Given the description of an element on the screen output the (x, y) to click on. 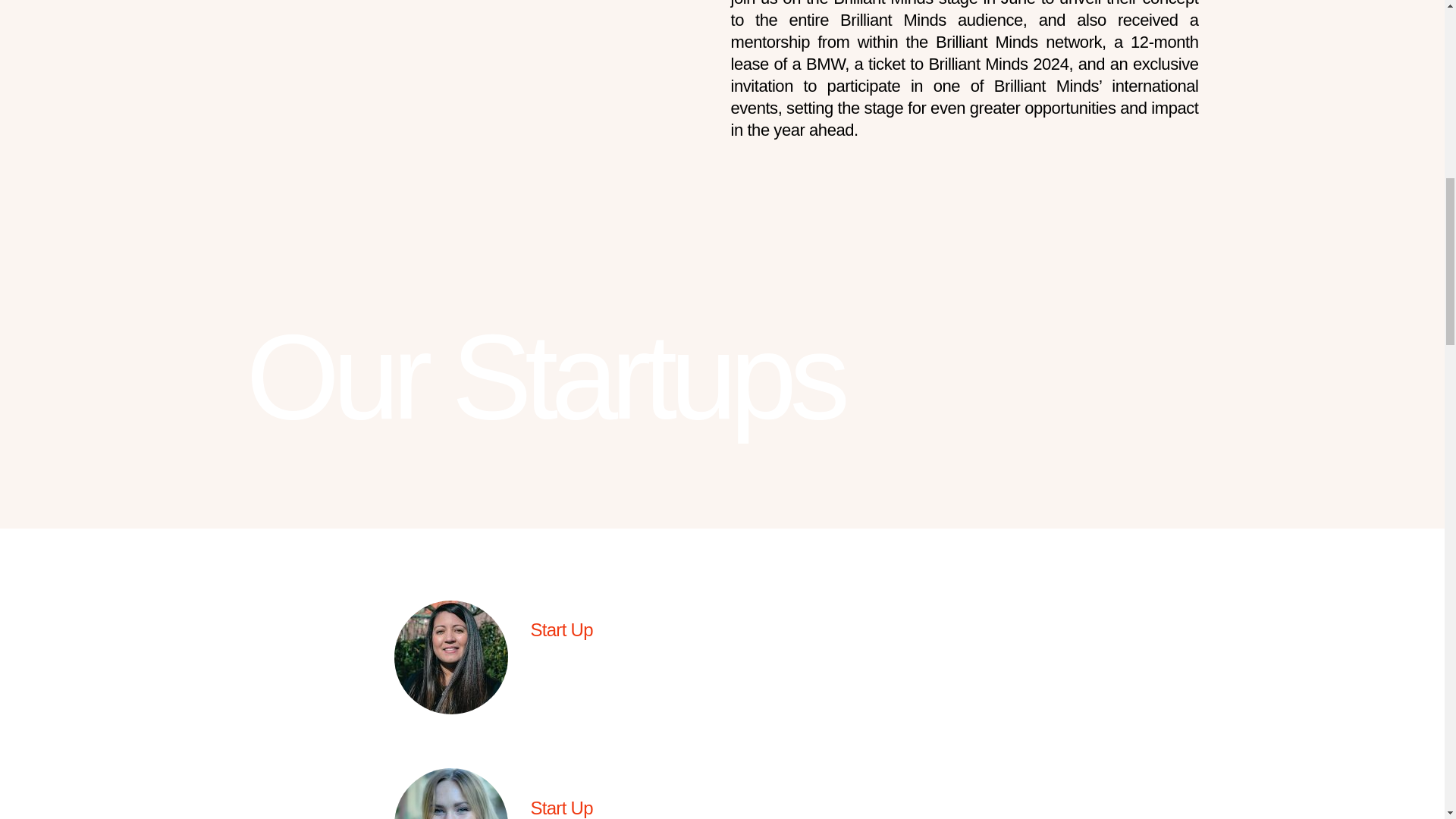
Read more (574, 687)
